Given the description of an element on the screen output the (x, y) to click on. 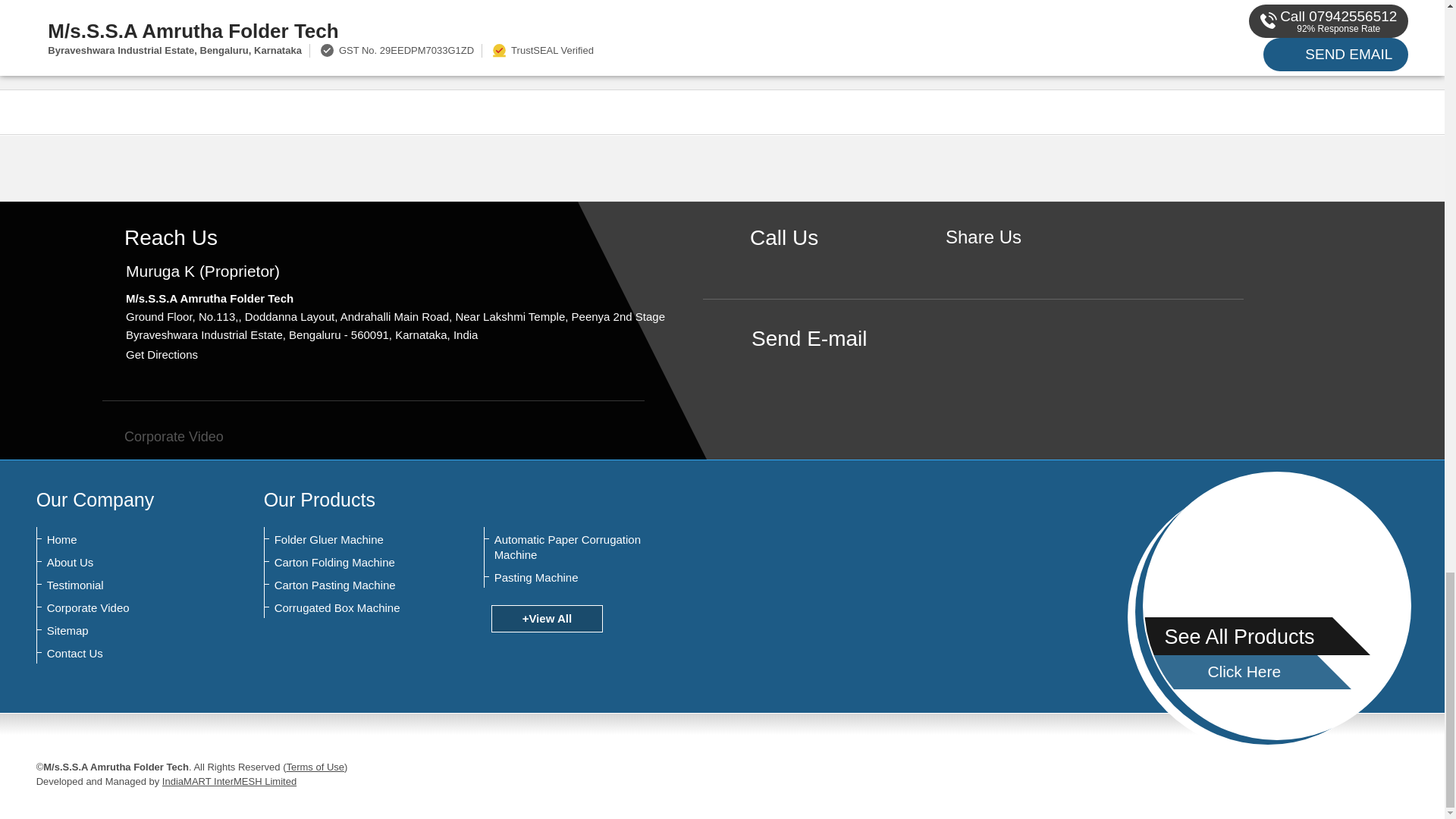
LinkedIn (1029, 262)
Corporate Video (121, 607)
Corporate Video (162, 436)
Get Directions (161, 354)
Home (121, 539)
Twitter (1006, 262)
Testimonial (121, 585)
About Us (121, 562)
Sitemap (121, 630)
Facebook (983, 262)
